Given the description of an element on the screen output the (x, y) to click on. 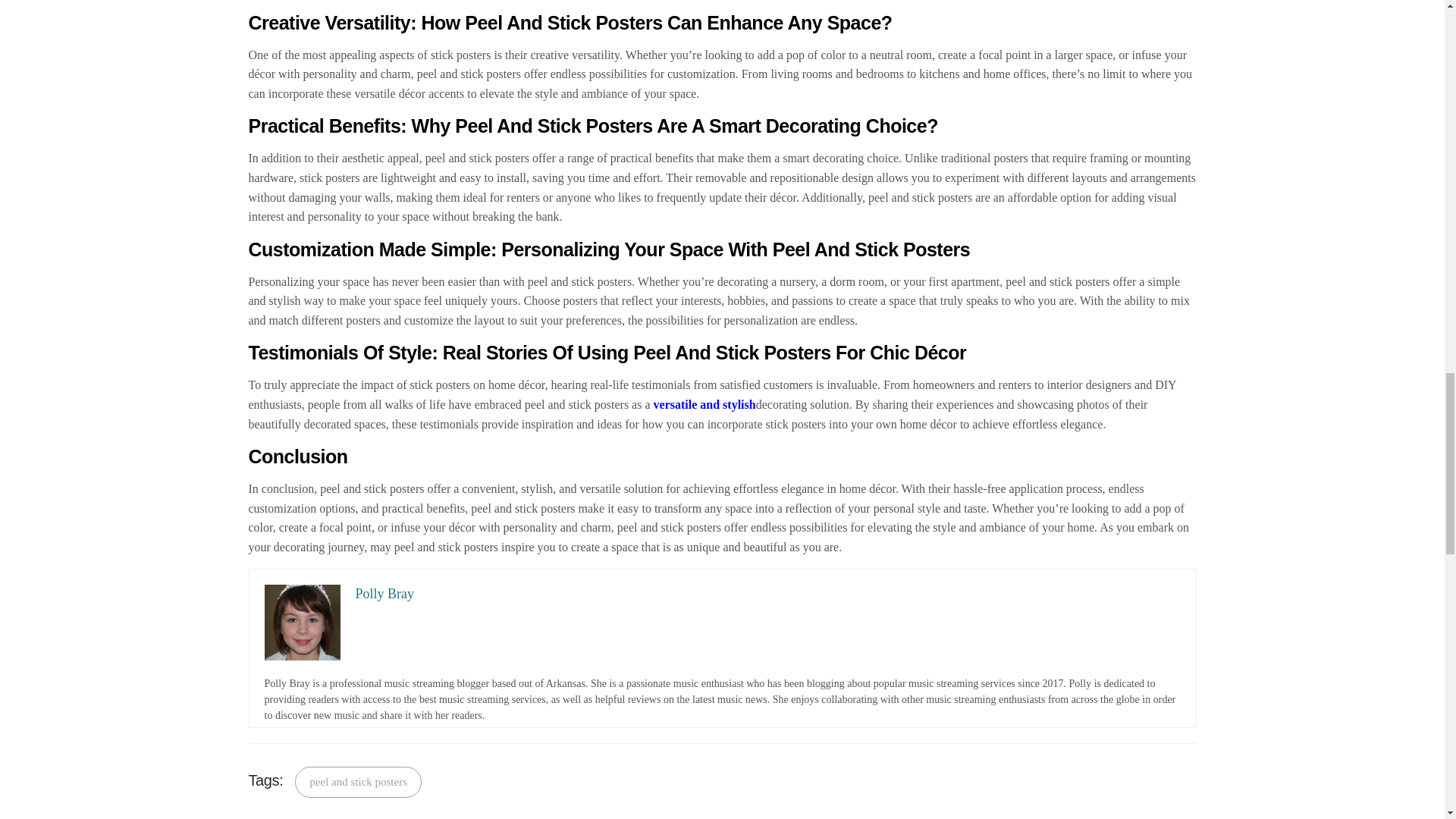
versatile and stylish (704, 404)
peel and stick posters (358, 781)
Polly Bray (729, 593)
